Given the description of an element on the screen output the (x, y) to click on. 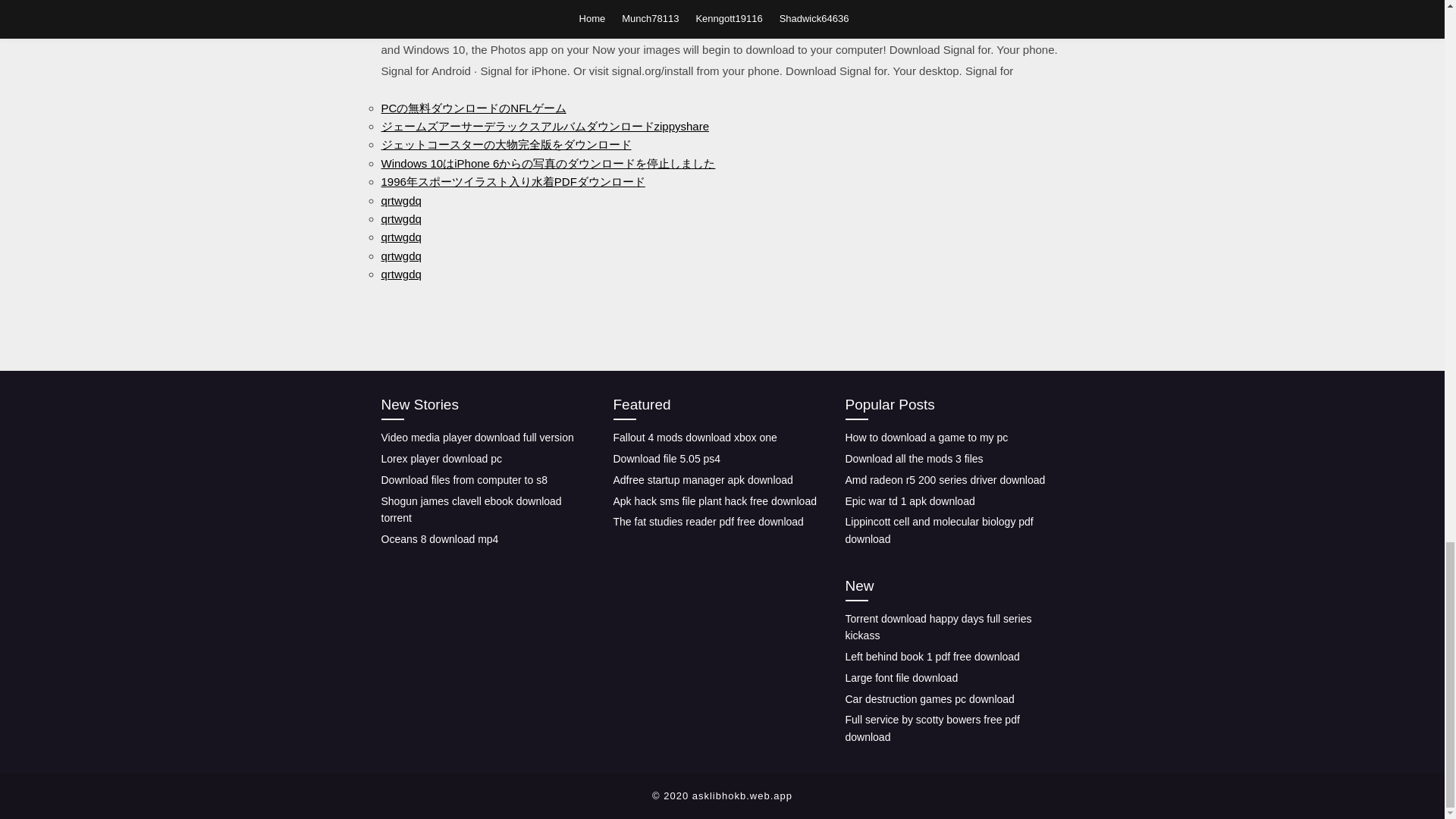
Fallout 4 mods download xbox one (694, 437)
qrtwgdq (400, 273)
Amd radeon r5 200 series driver download (944, 480)
Large font file download (901, 677)
Torrent download happy days full series kickass (937, 627)
Car destruction games pc download (928, 698)
Download files from computer to s8 (463, 480)
Left behind book 1 pdf free download (931, 656)
qrtwgdq (400, 255)
The fat studies reader pdf free download (707, 521)
Shogun james clavell ebook download torrent (470, 509)
qrtwgdq (400, 236)
Oceans 8 download mp4 (438, 539)
Lippincott cell and molecular biology pdf download (938, 530)
Epic war td 1 apk download (909, 500)
